Given the description of an element on the screen output the (x, y) to click on. 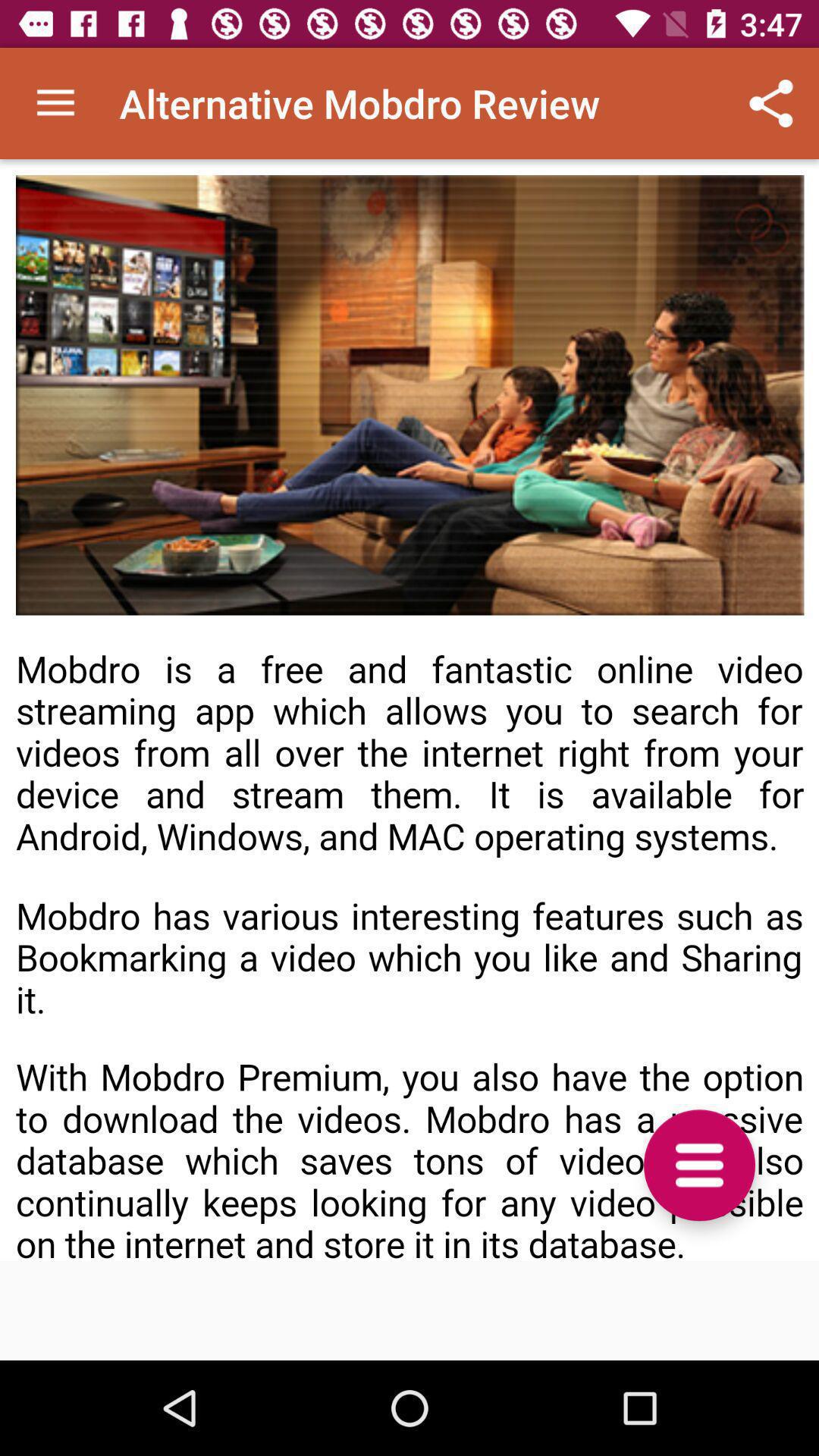
more options (699, 1165)
